Given the description of an element on the screen output the (x, y) to click on. 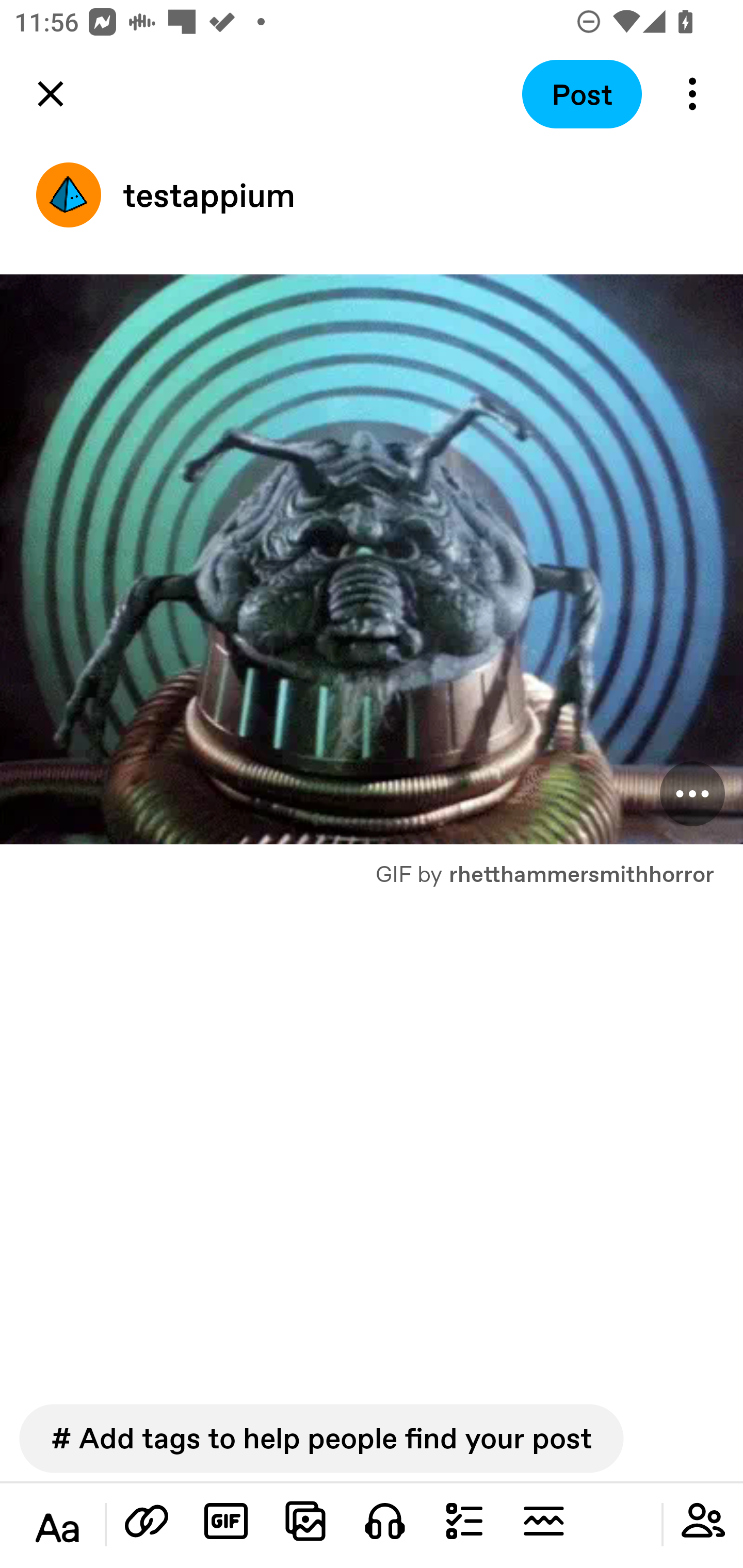
Navigate up (50, 93)
Post (581, 93)
Blog Selector testappium (371, 195)
Image options (692, 794)
GIF by rhetthammersmithhorror (371, 866)
# Add tags to help people find your post (320, 1438)
Add text to post (146, 1520)
Add GIF to post (225, 1520)
Add Photo to post (305, 1520)
Add Audio to post (384, 1520)
Add Poll to post (463, 1520)
Add read-more link to post (543, 1520)
Add community label for post (703, 1520)
Add text to post (57, 1528)
